Given the description of an element on the screen output the (x, y) to click on. 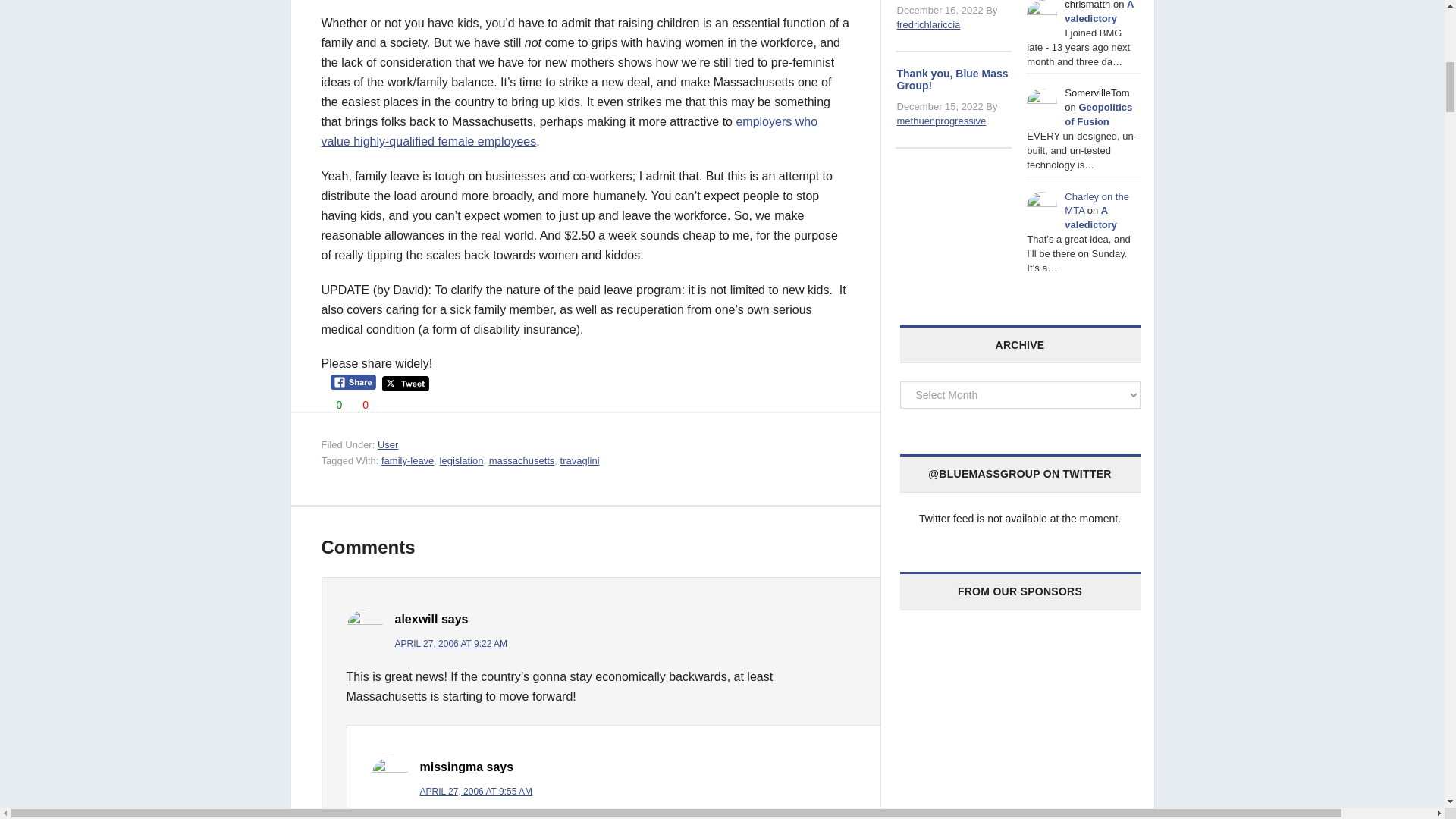
APRIL 27, 2006 AT 9:55 AM (476, 791)
Tweet (405, 383)
travaglini (579, 460)
Facebook Share (353, 382)
User (387, 444)
family-leave (407, 460)
APRIL 27, 2006 AT 9:22 AM (450, 643)
employers who value highly-qualified female employees (569, 131)
massachusetts (521, 460)
legislation (461, 460)
